Given the description of an element on the screen output the (x, y) to click on. 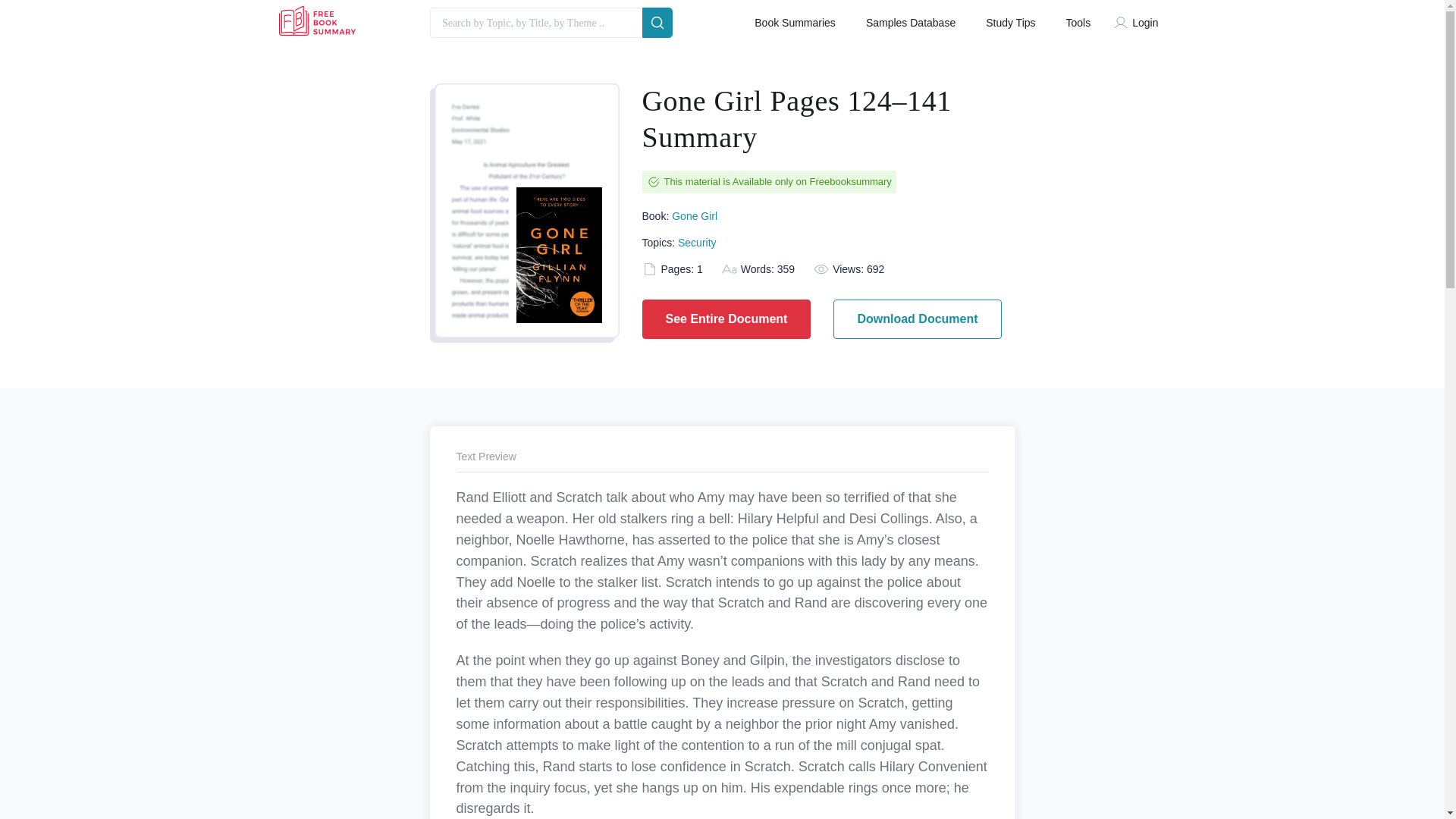
Study Tips (1010, 22)
Samples Database (910, 22)
Login (1139, 22)
Gone Girl (694, 215)
Security (697, 242)
Book Summaries (794, 22)
